Given the description of an element on the screen output the (x, y) to click on. 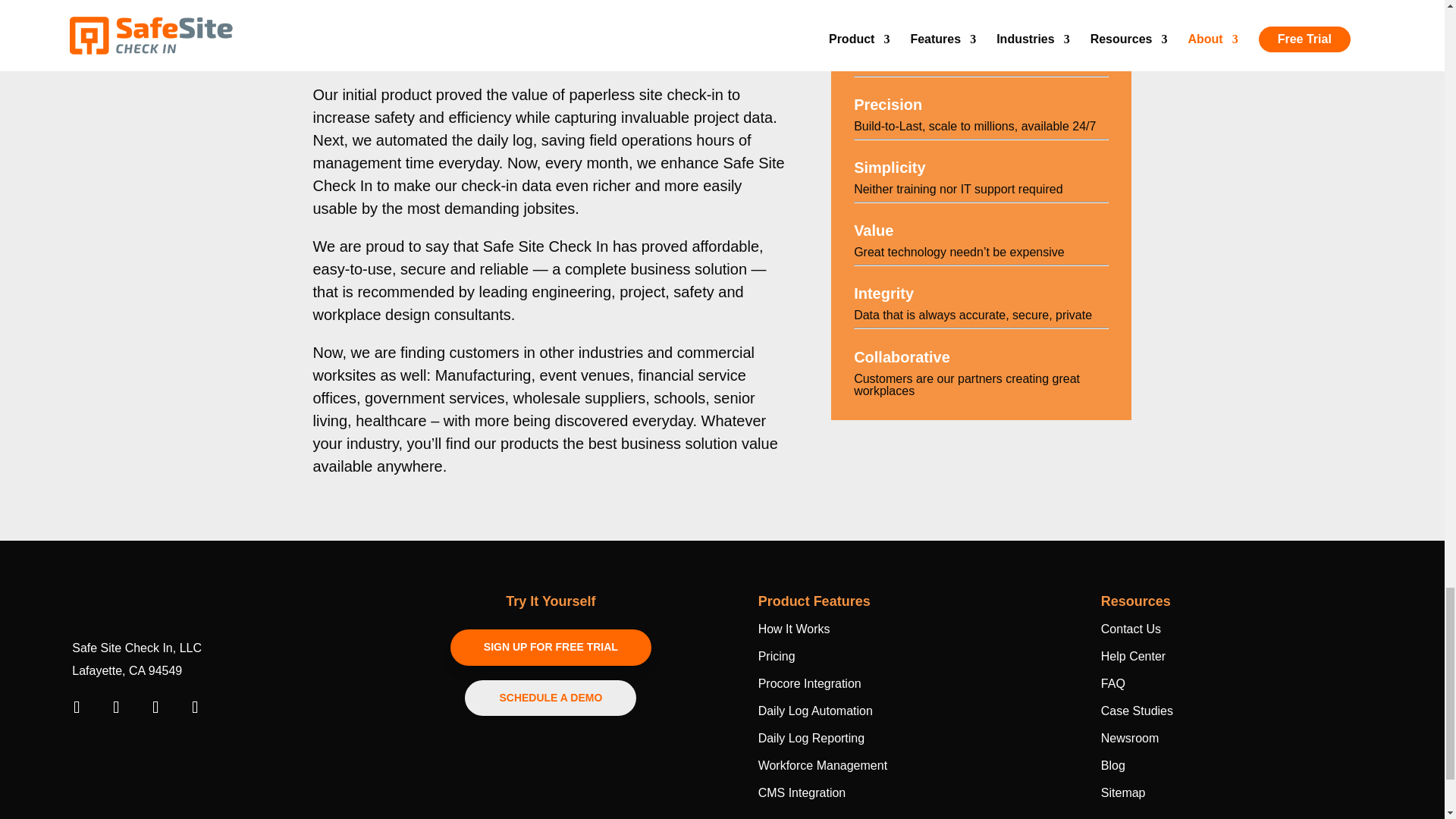
Follow on LinkedIn (115, 707)
Follow on Facebook (76, 707)
SSCI Made in USA Badge - Small White (119, 750)
Follow on Youtube (154, 707)
Follow on X (194, 707)
